Given the description of an element on the screen output the (x, y) to click on. 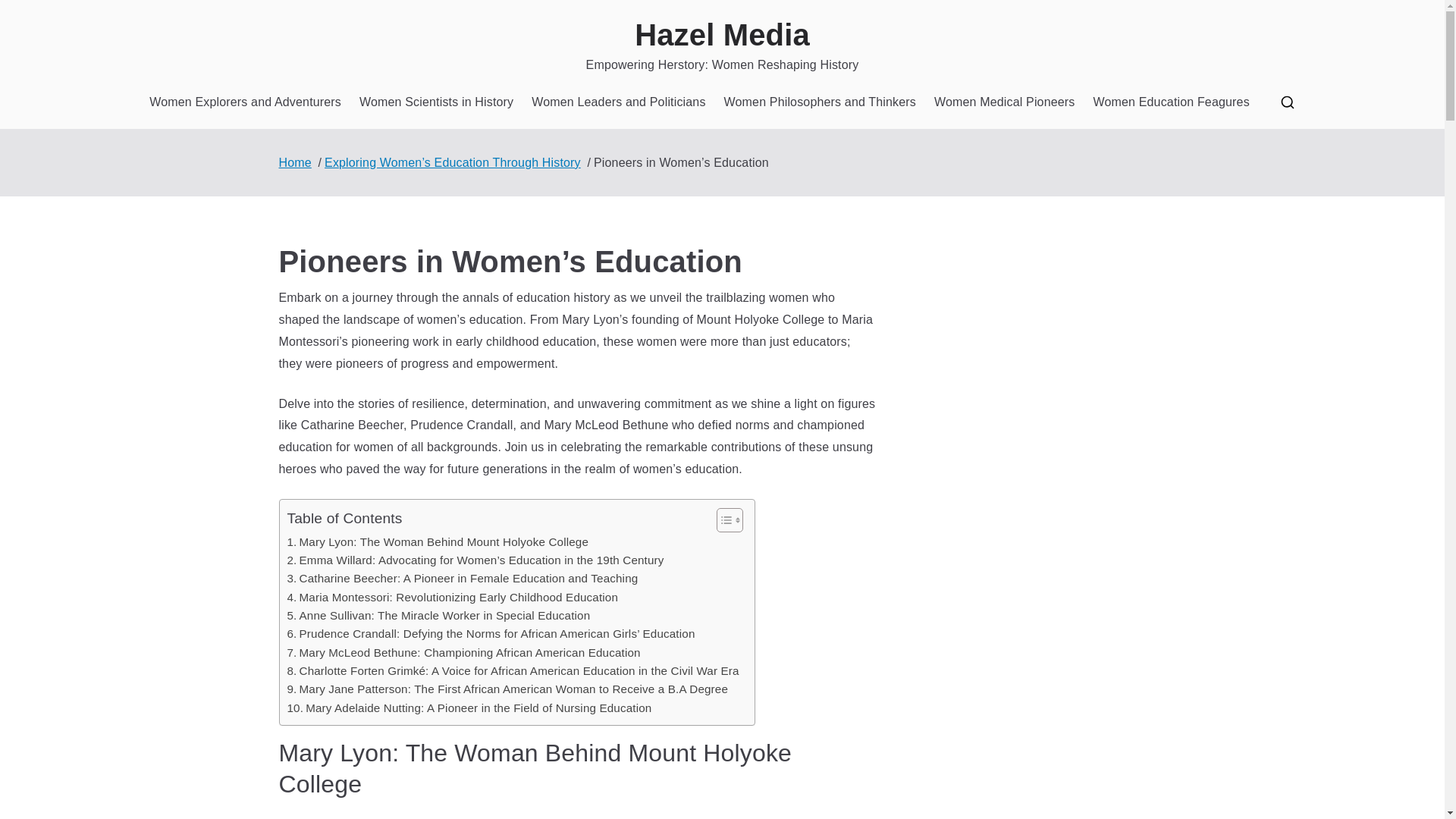
Mary Lyon: The Woman Behind Mount Holyoke College (437, 542)
Hazel Media (721, 34)
Anne Sullivan: The Miracle Worker in Special Education (437, 615)
Women Philosophers and Thinkers (819, 102)
Anne Sullivan: The Miracle Worker in Special Education (437, 615)
Women Scientists in History (436, 102)
Mary Lyon: The Woman Behind Mount Holyoke College (437, 542)
Maria Montessori: Revolutionizing Early Childhood Education (451, 597)
